Given the description of an element on the screen output the (x, y) to click on. 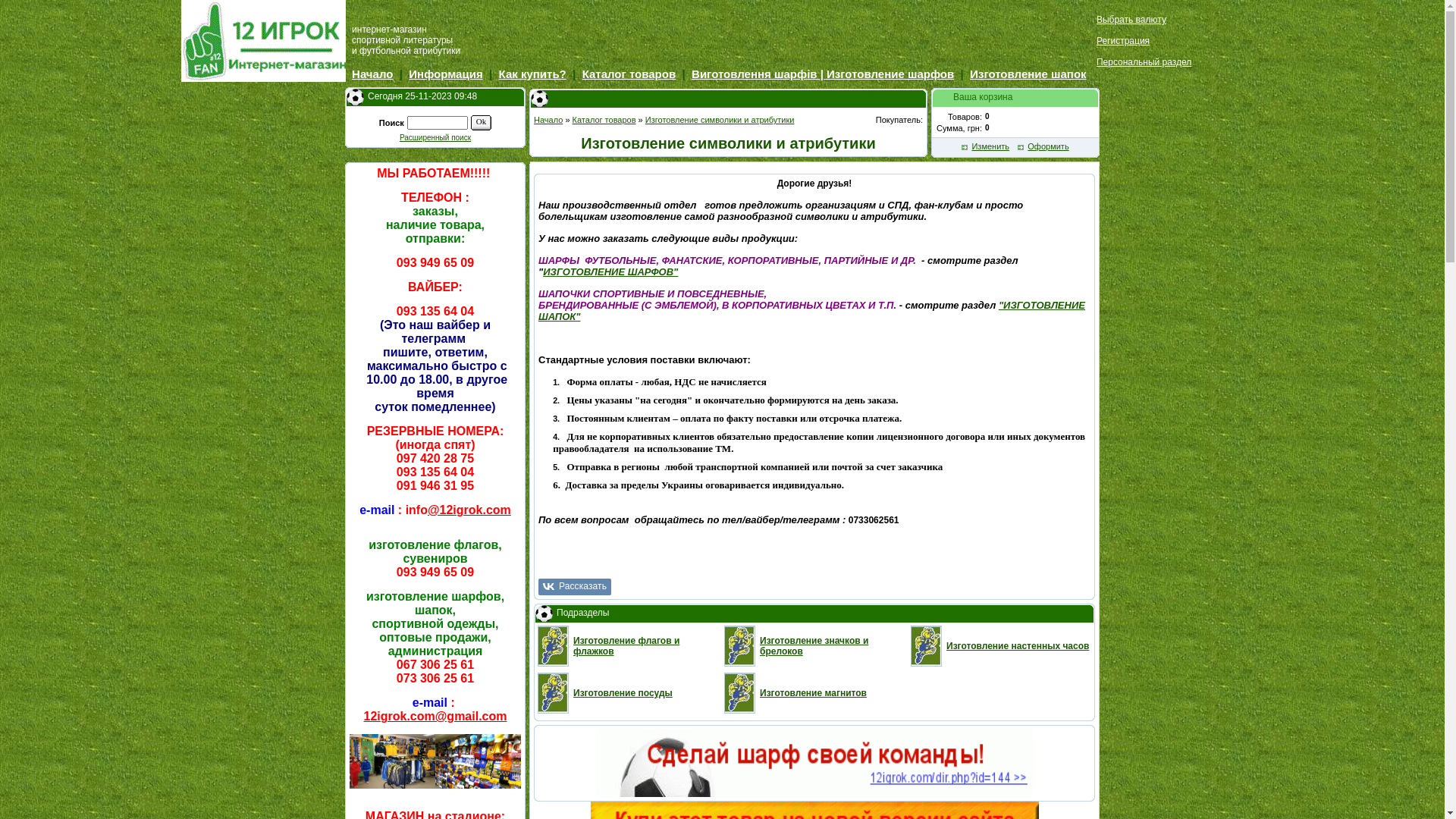
Ok Element type: text (480, 122)
@12igrok.com Element type: text (469, 510)
12igrok.com@gmail.com Element type: text (435, 717)
